Given the description of an element on the screen output the (x, y) to click on. 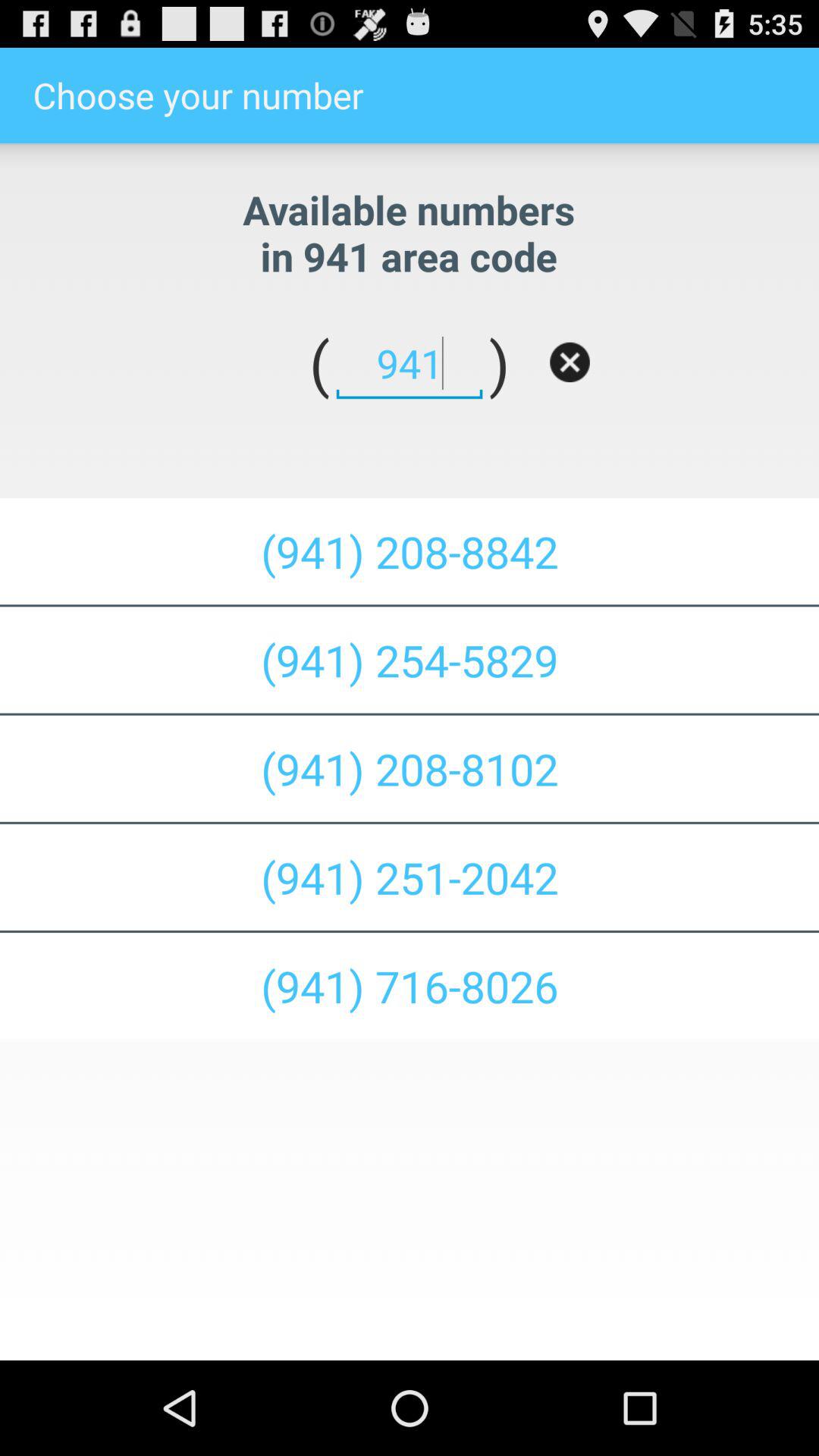
clear text (569, 362)
